Given the description of an element on the screen output the (x, y) to click on. 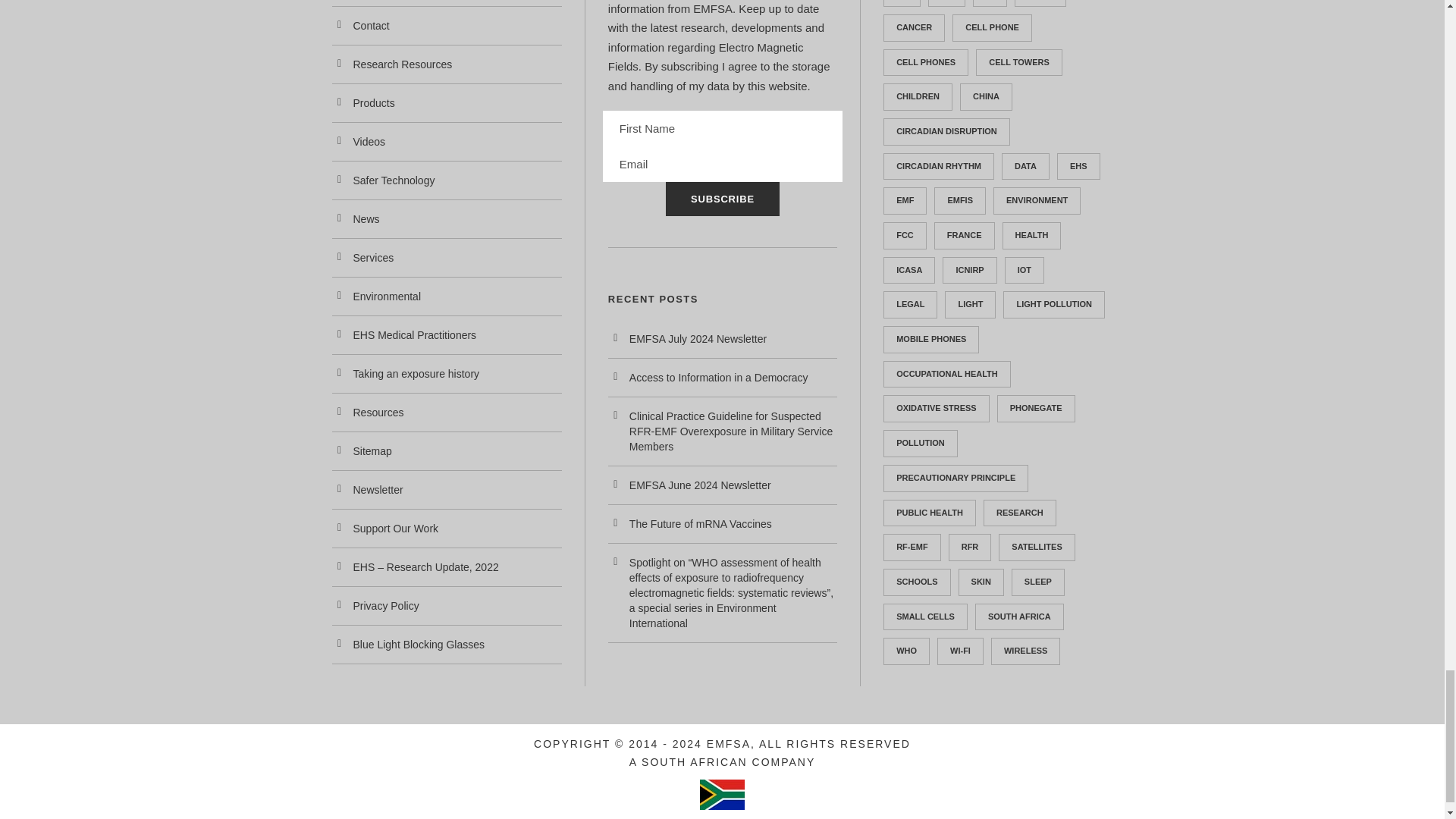
Subscribe (721, 198)
